Given the description of an element on the screen output the (x, y) to click on. 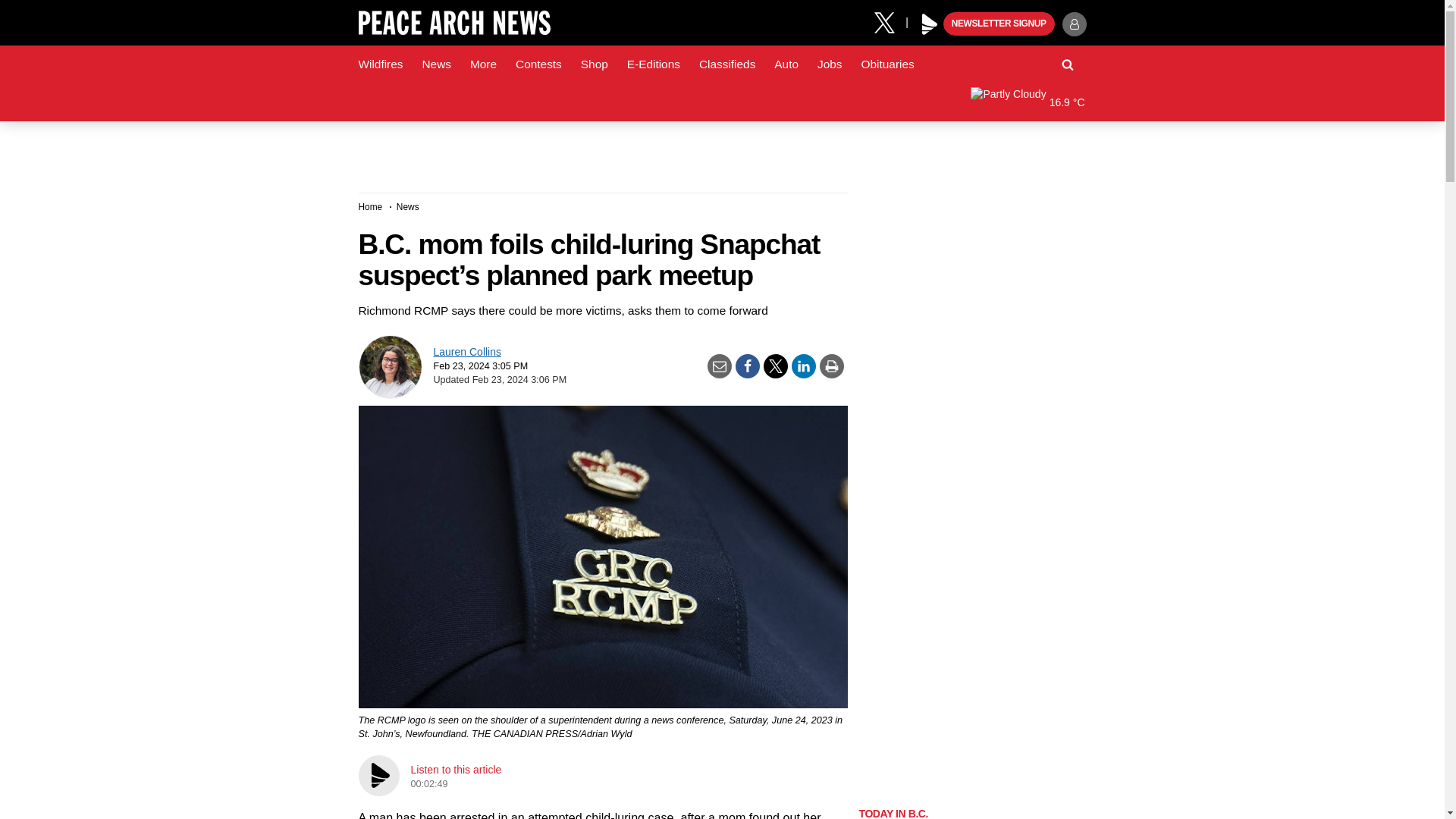
Play (929, 24)
Black Press Media (929, 24)
News (435, 64)
NEWSLETTER SIGNUP (998, 24)
Wildfires (380, 64)
X (889, 21)
